Given the description of an element on the screen output the (x, y) to click on. 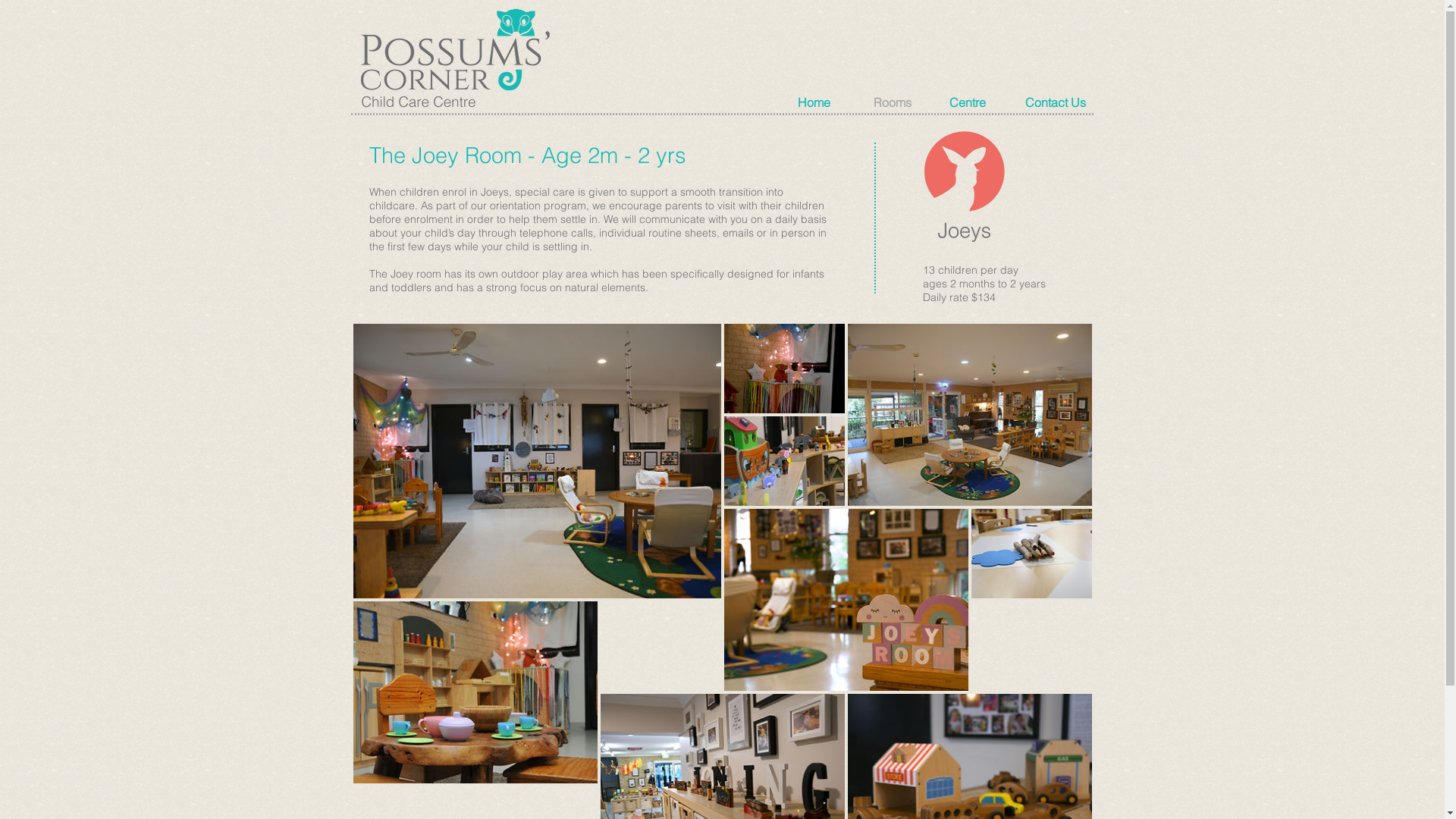
Home Element type: text (828, 102)
Centre Element type: text (979, 102)
Rooms Element type: text (903, 102)
Contact Us Element type: text (1055, 102)
